Given the description of an element on the screen output the (x, y) to click on. 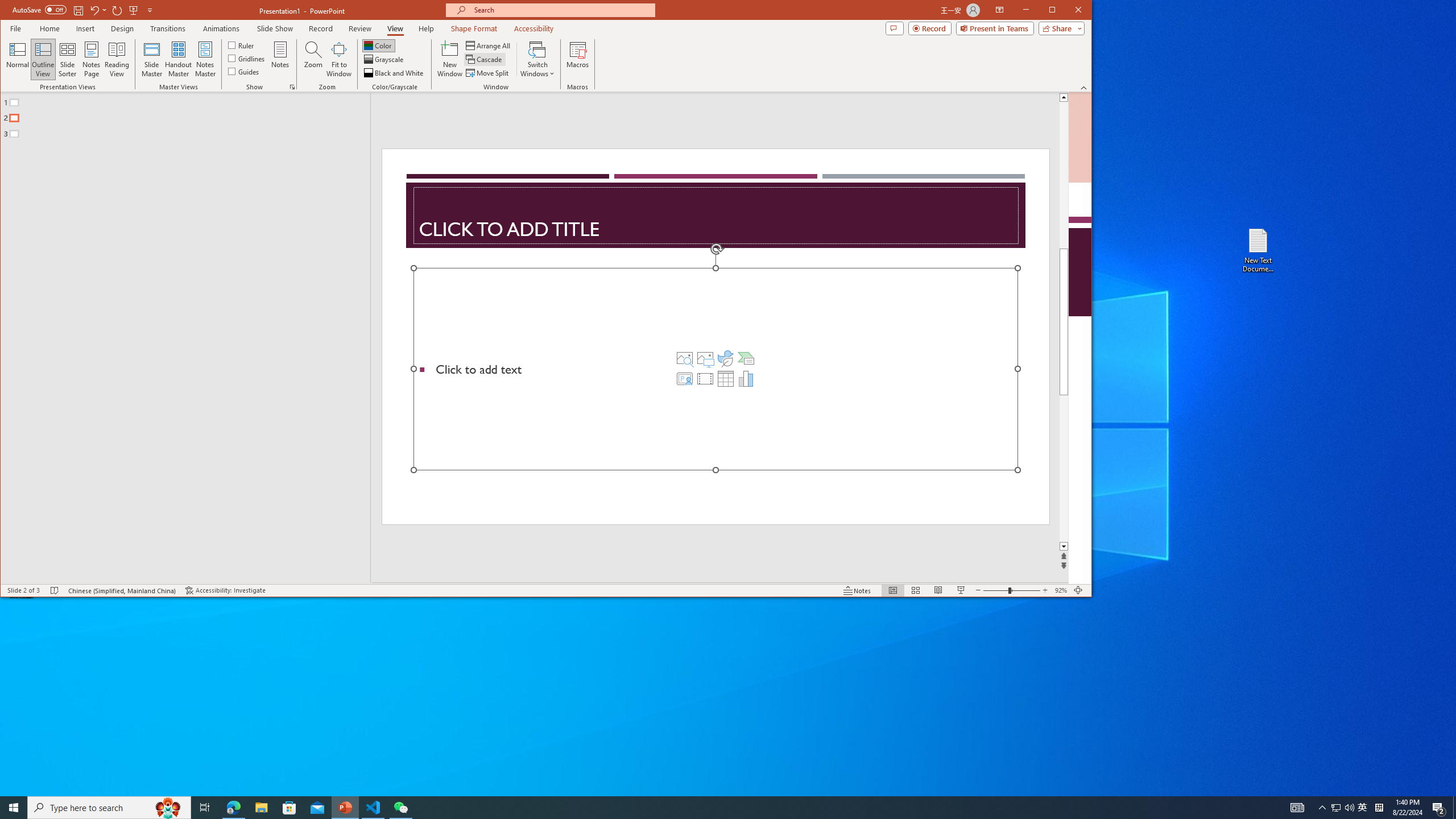
Outline View (42, 59)
Running applications (707, 807)
Handout Master (178, 59)
Insert Chart (745, 378)
